Given the description of an element on the screen output the (x, y) to click on. 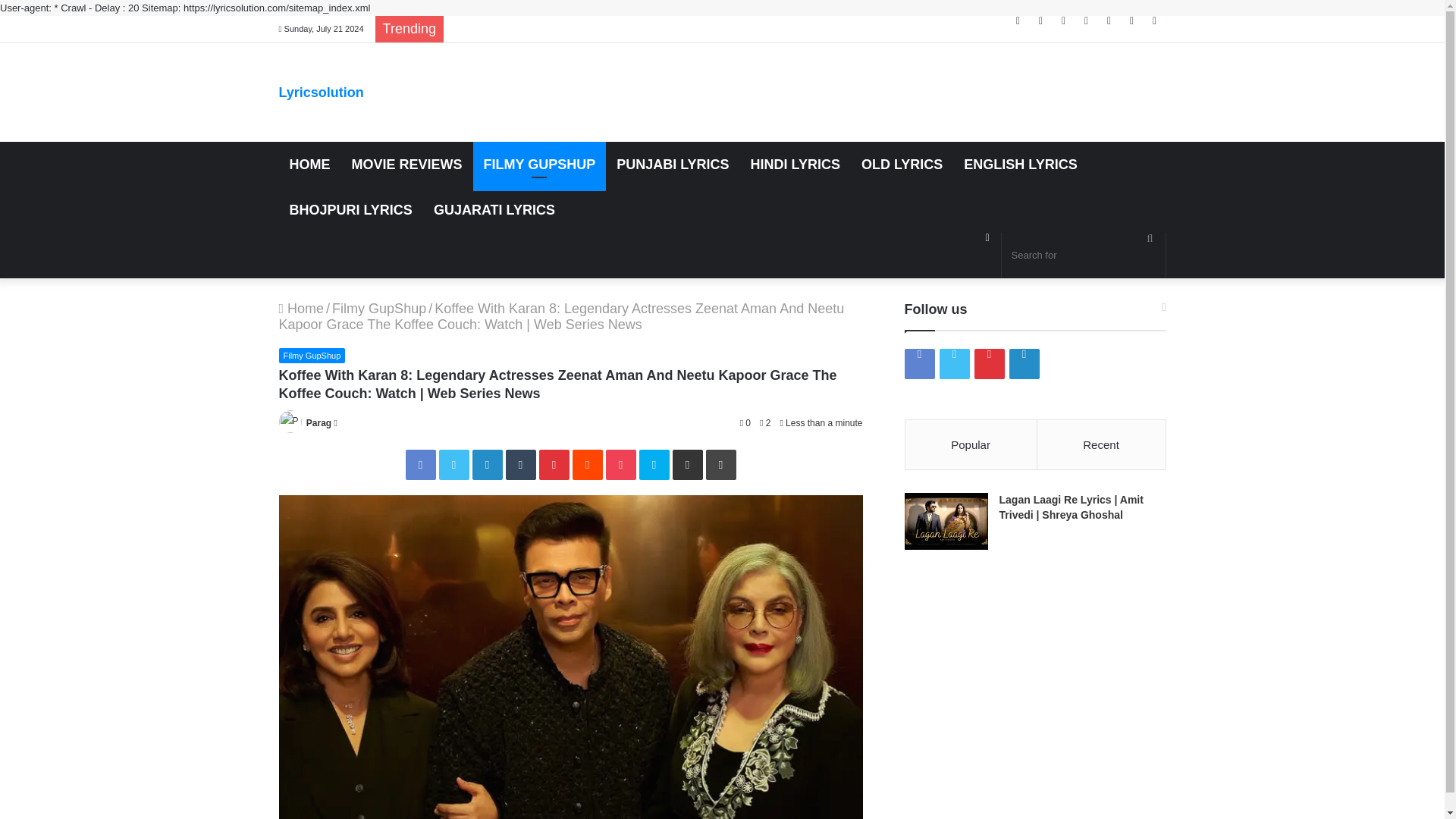
Pinterest (1063, 20)
HOME (309, 164)
Facebook (1018, 20)
FILMY GUPSHUP (540, 164)
Twitter (453, 464)
PUNJABI LYRICS (672, 164)
Random Article (1131, 20)
Lyricsolution (321, 92)
HINDI LYRICS (794, 164)
Sidebar (1154, 20)
GUJARATI LYRICS (494, 209)
BHOJPURI LYRICS (351, 209)
Random Article (987, 237)
Parag (318, 422)
LinkedIn (486, 464)
